Given the description of an element on the screen output the (x, y) to click on. 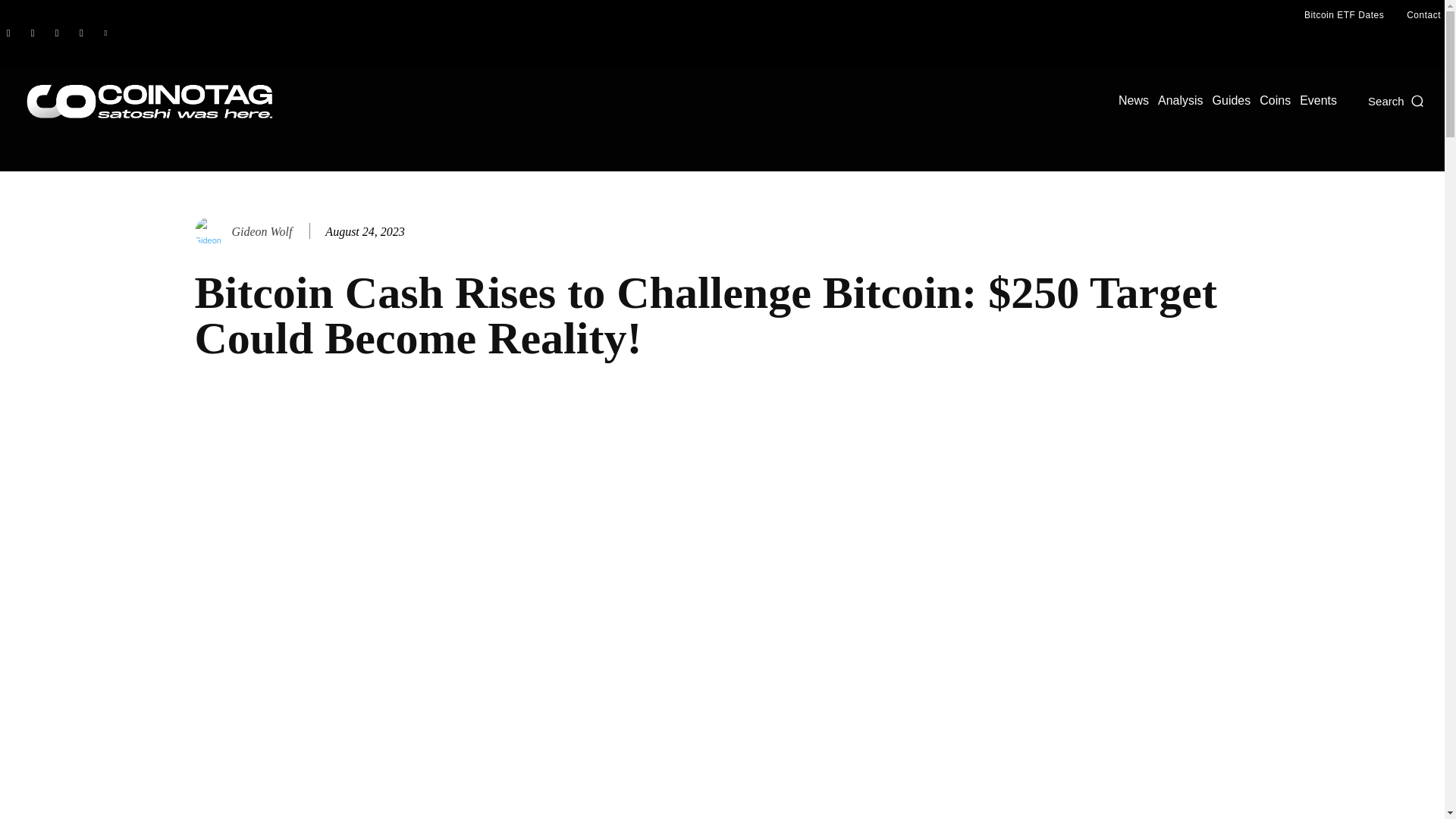
Search (1397, 99)
Gideon Wolf (210, 232)
Twitter (105, 33)
Telegram (80, 33)
Instagram (32, 33)
RSS (56, 33)
Bitcoin ETF Dates (1343, 15)
Facebook (8, 33)
Gideon Wolf (261, 231)
